Given the description of an element on the screen output the (x, y) to click on. 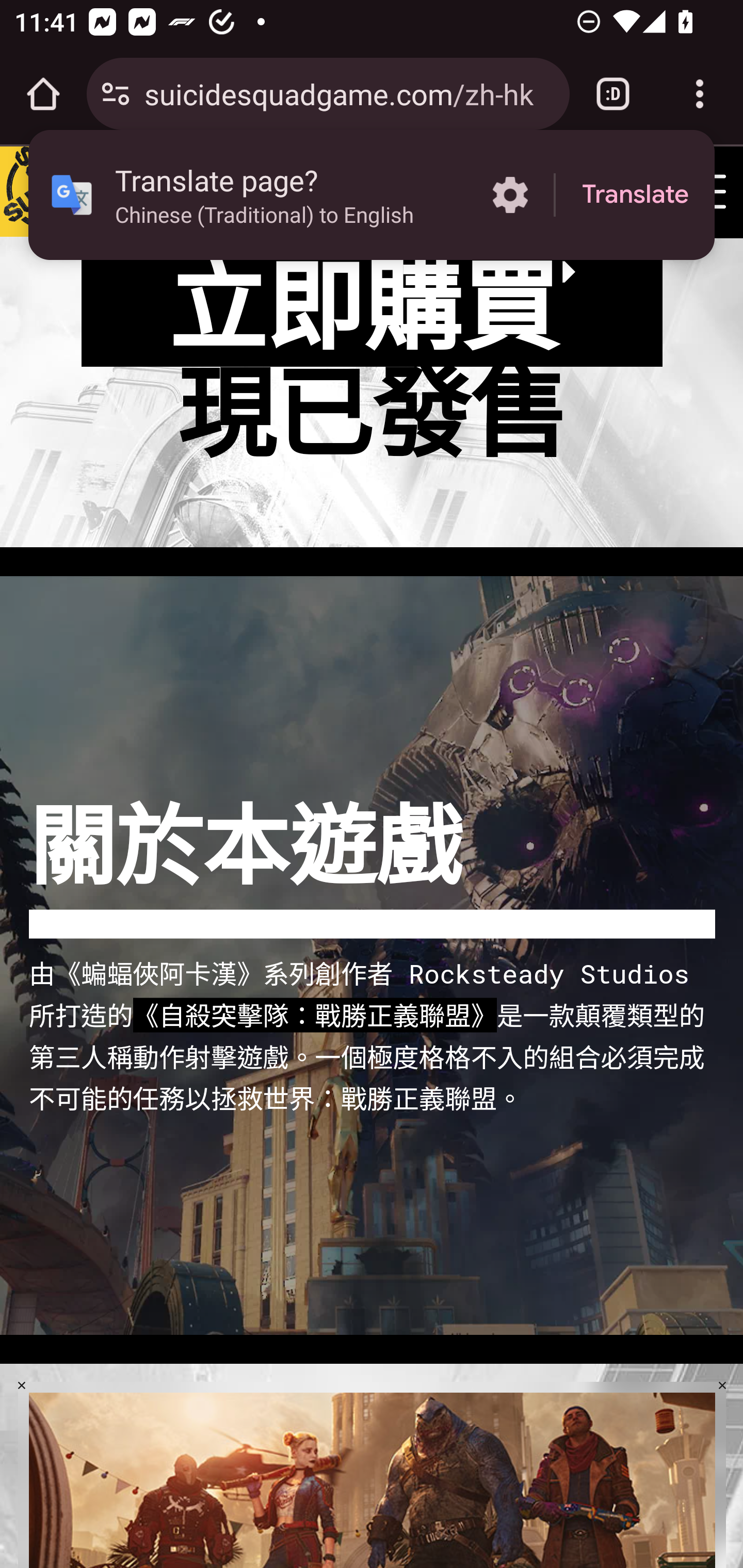
Open the home page (43, 93)
Connection is secure (115, 93)
Switch or close tabs (612, 93)
Customize and control Google Chrome (699, 93)
suicidesquadgame.com/zh-hk (349, 92)
Translate (634, 195)
More options in the Translate page? (509, 195)
